Given the description of an element on the screen output the (x, y) to click on. 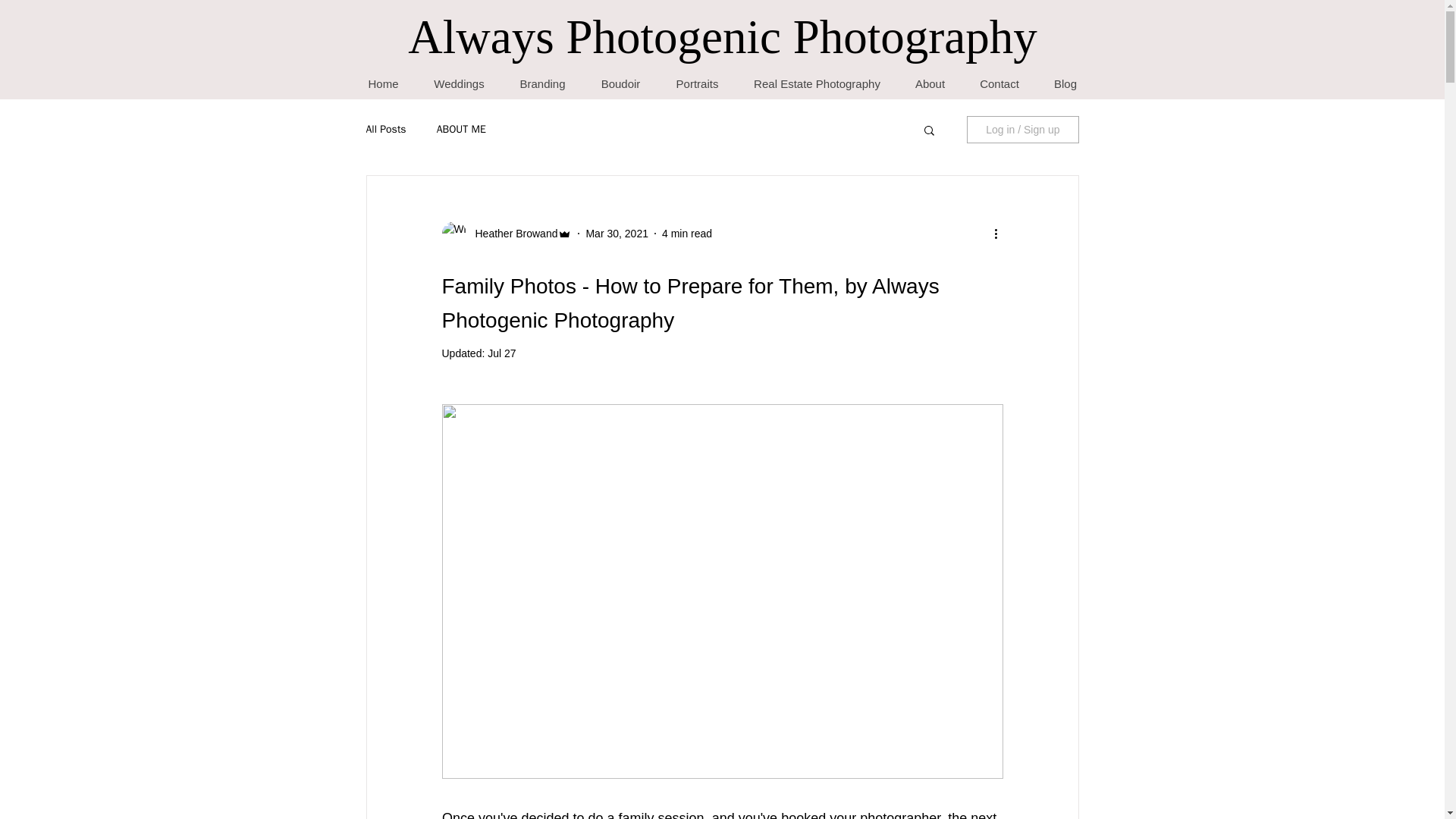
ABOUT ME (461, 129)
Weddings (457, 83)
Contact (997, 83)
Boudoir (620, 83)
Jul 27 (501, 353)
Portraits (697, 83)
Branding (542, 83)
Mar 30, 2021 (616, 233)
Heather Browand (511, 233)
Real Estate Photography (815, 83)
